Given the description of an element on the screen output the (x, y) to click on. 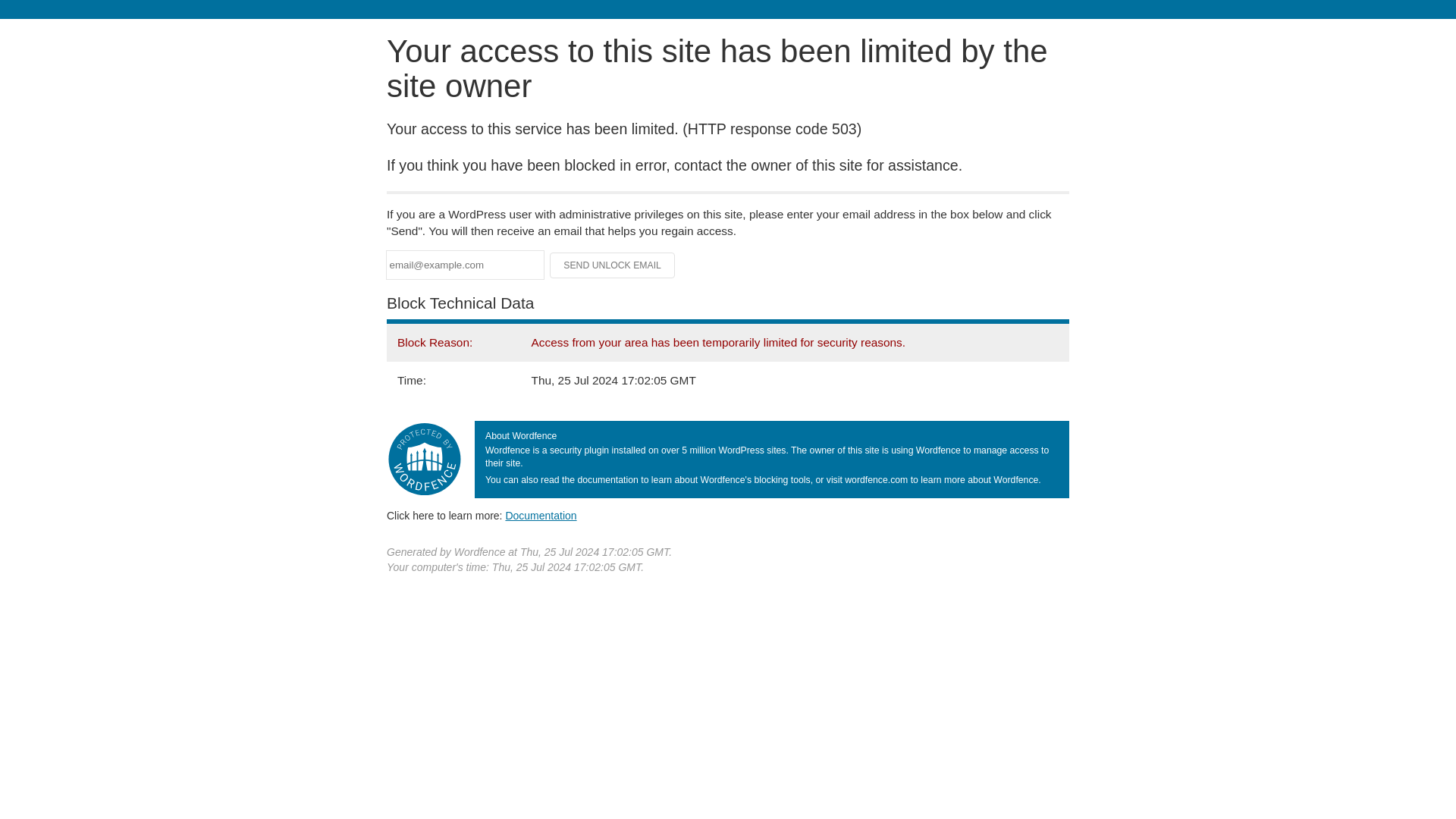
Send Unlock Email (612, 265)
Send Unlock Email (612, 265)
Documentation (540, 515)
